Given the description of an element on the screen output the (x, y) to click on. 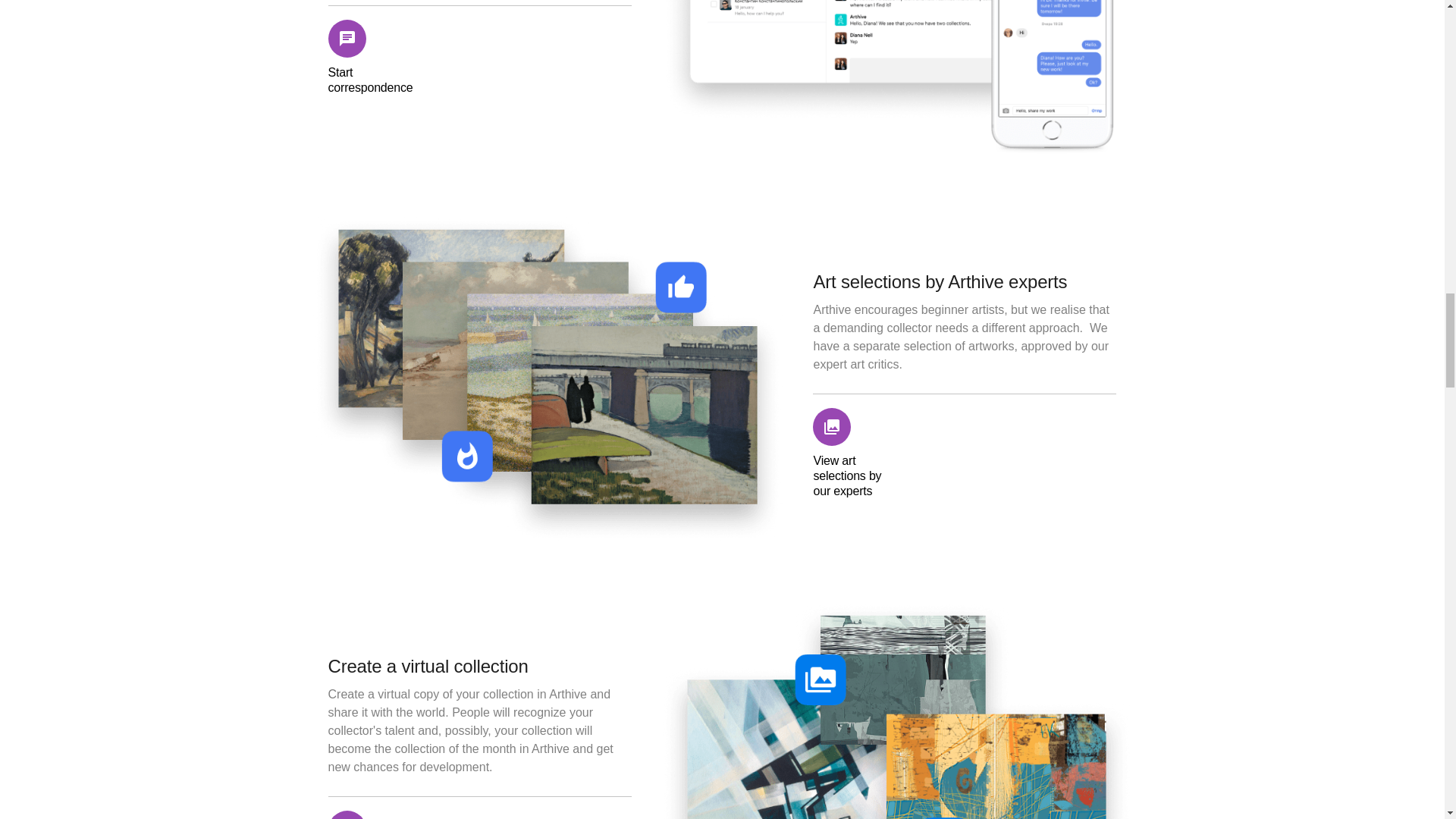
Add artworks to collection (373, 814)
View art selections by our experts  (858, 452)
Start correspondence (373, 57)
